Given the description of an element on the screen output the (x, y) to click on. 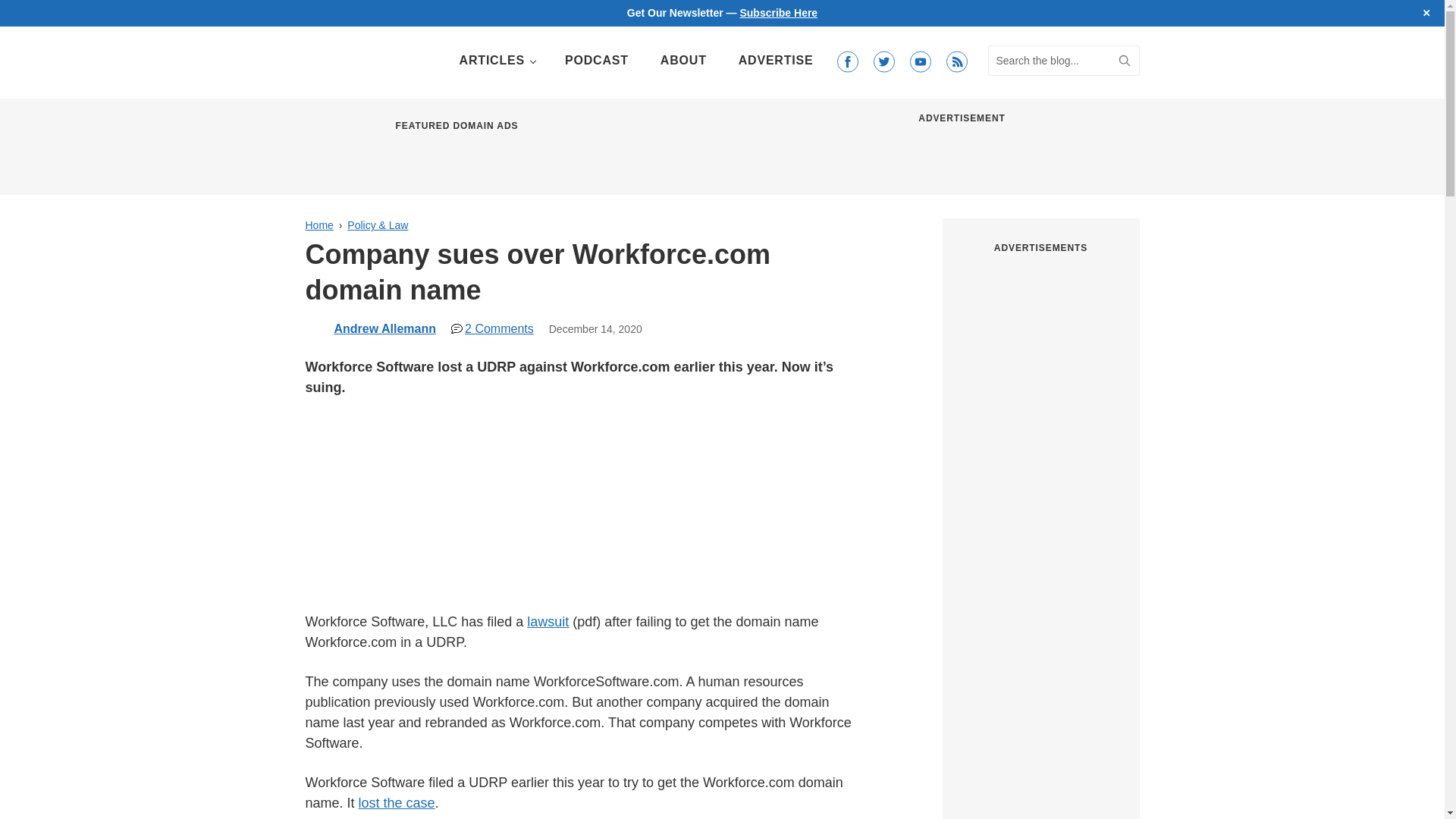
Submit search (1123, 60)
Submit search (1123, 60)
PODCAST (596, 60)
Andrew Allemann (384, 328)
ARTICLES (495, 60)
lost the case (396, 802)
lawsuit (548, 621)
2 Comments (492, 328)
ADVERTISE (775, 60)
